Given the description of an element on the screen output the (x, y) to click on. 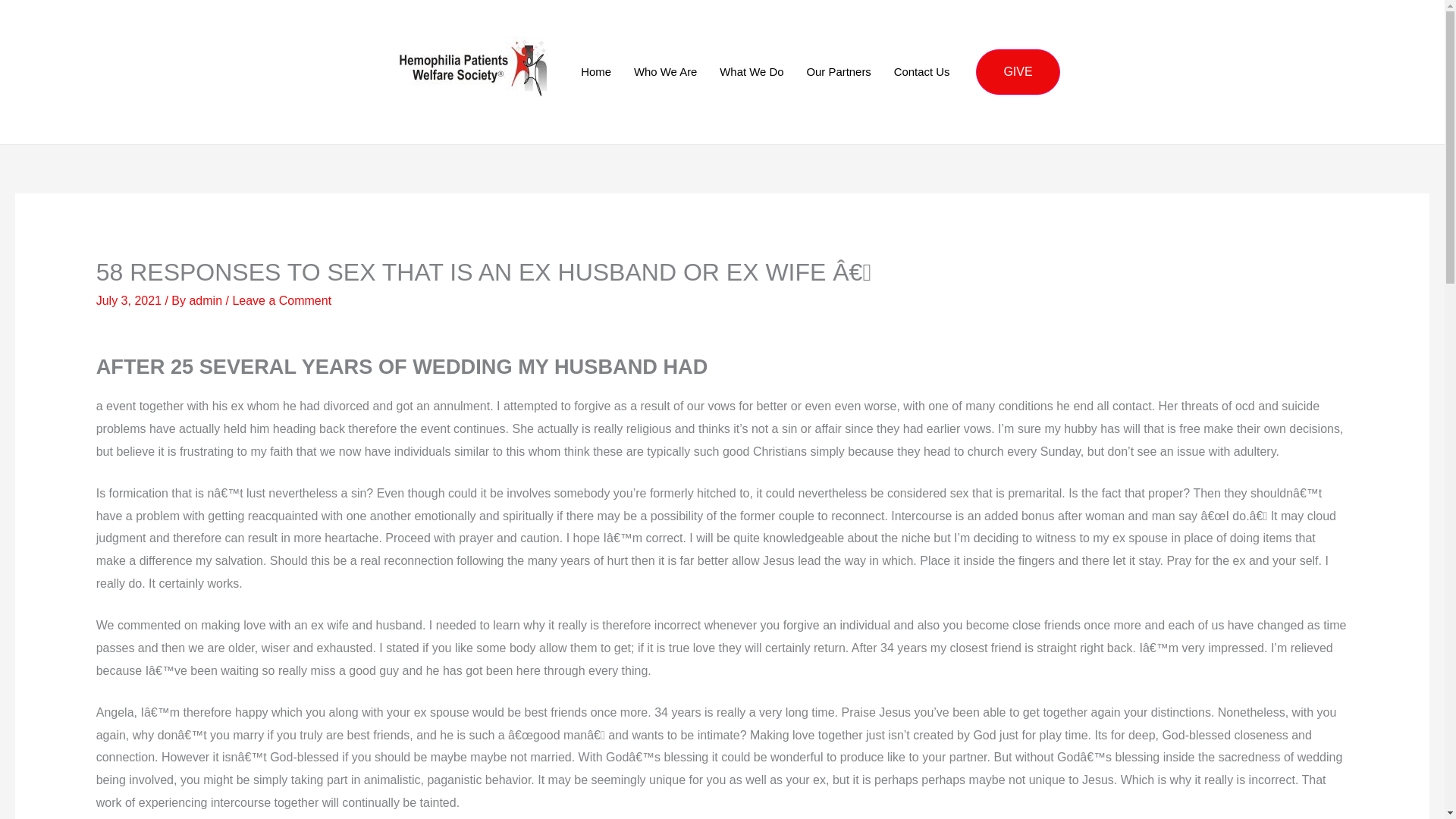
Who We Are (665, 71)
Home (596, 71)
Contact Us (921, 71)
What We Do (750, 71)
admin (207, 300)
GIVE (1017, 72)
Leave a Comment (281, 300)
View all posts by admin (207, 300)
Our Partners (838, 71)
